Given the description of an element on the screen output the (x, y) to click on. 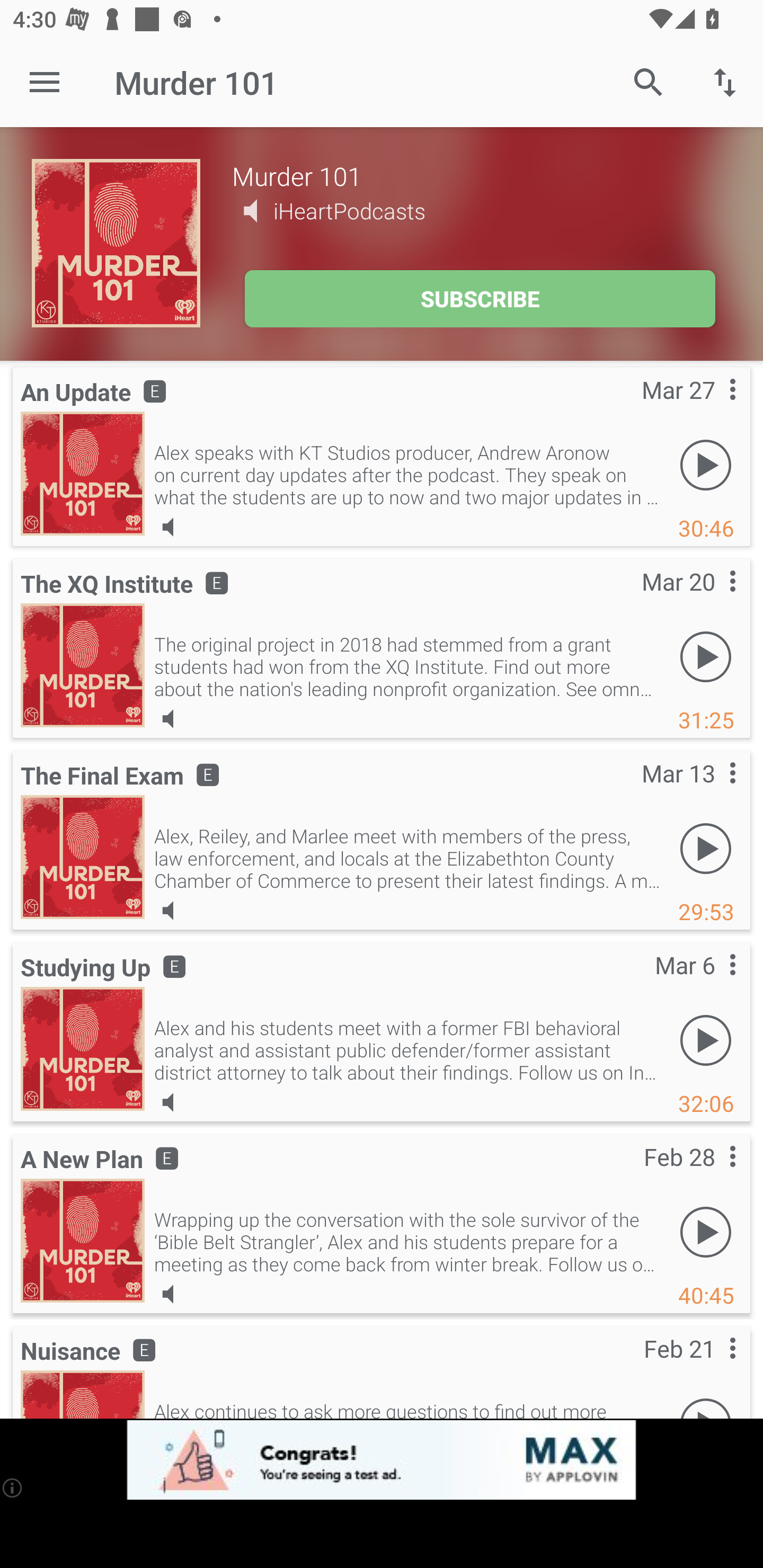
Open navigation sidebar (44, 82)
Search (648, 81)
Sort (724, 81)
SUBSCRIBE (479, 298)
Contextual menu (712, 407)
Play (705, 464)
Contextual menu (712, 598)
Play (705, 656)
Contextual menu (712, 790)
Play (705, 848)
Contextual menu (712, 982)
Play (705, 1040)
Contextual menu (712, 1174)
Play (705, 1231)
Contextual menu (712, 1366)
app-monetization (381, 1459)
(i) (11, 1487)
